Given the description of an element on the screen output the (x, y) to click on. 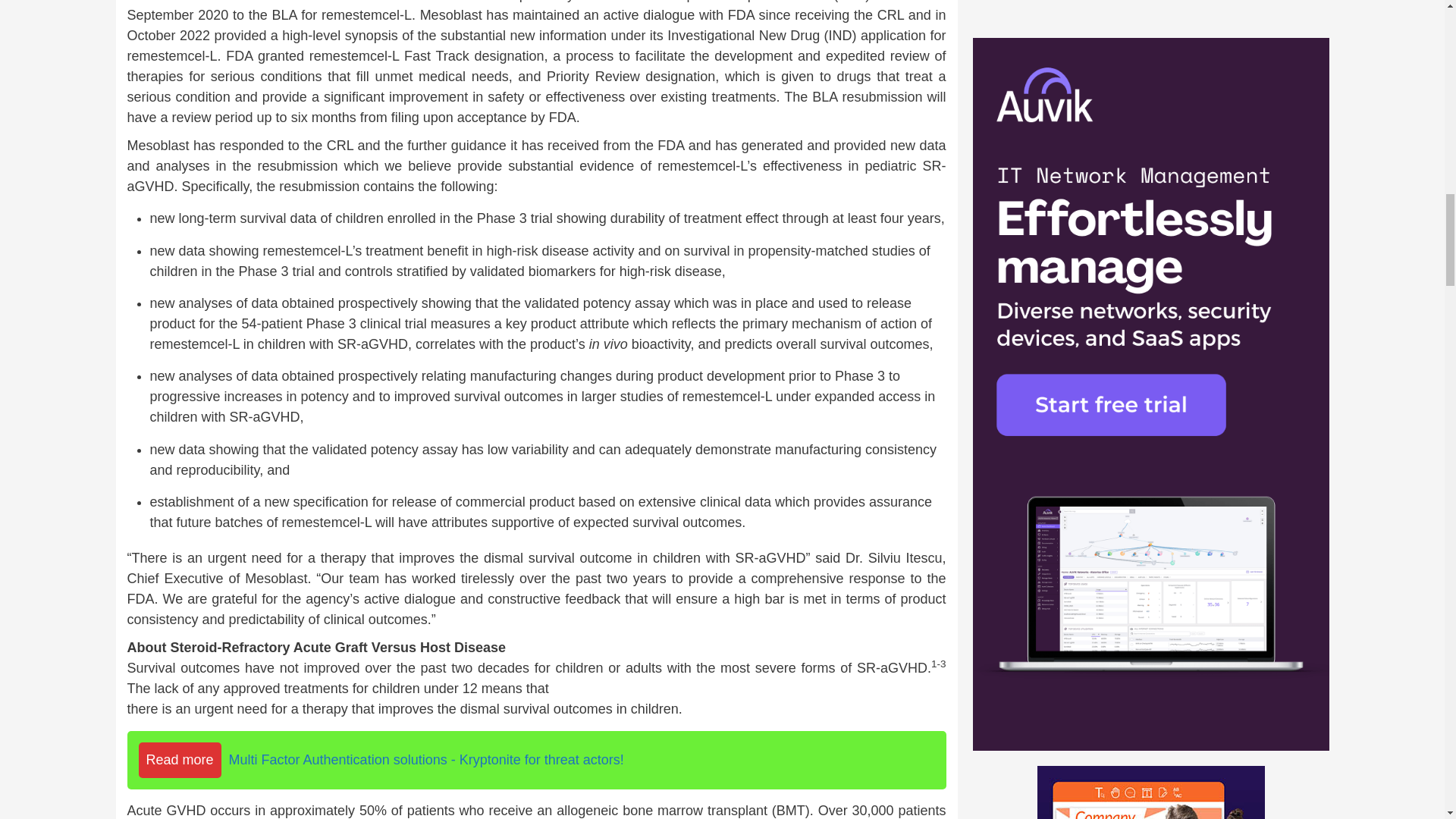
Search (1276, 11)
Search (1276, 11)
